Given the description of an element on the screen output the (x, y) to click on. 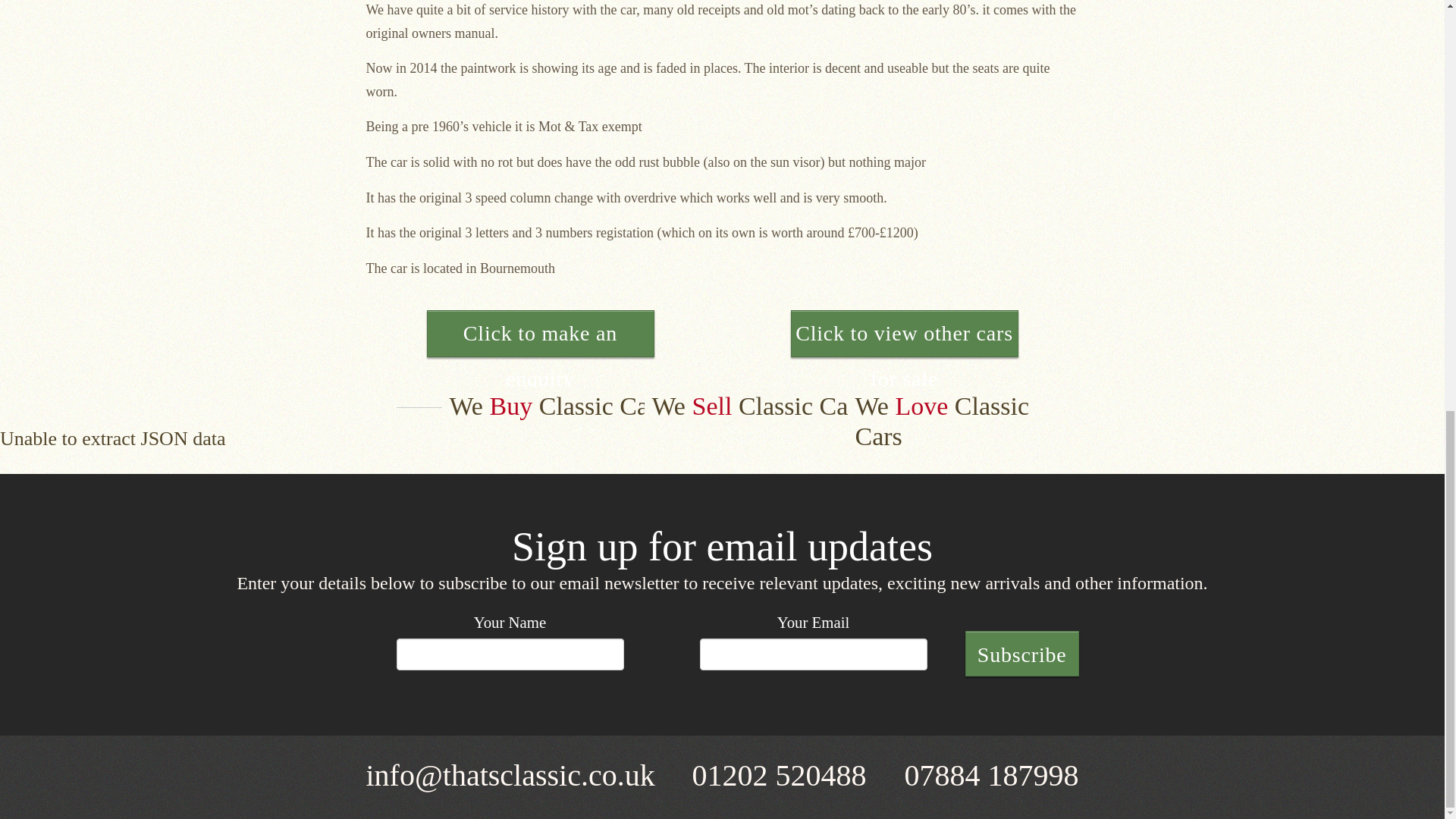
Click to view other cars for sale (903, 333)
Click to make an enquiry (539, 333)
Subscribe (1021, 653)
Subscribe (1021, 653)
